Given the description of an element on the screen output the (x, y) to click on. 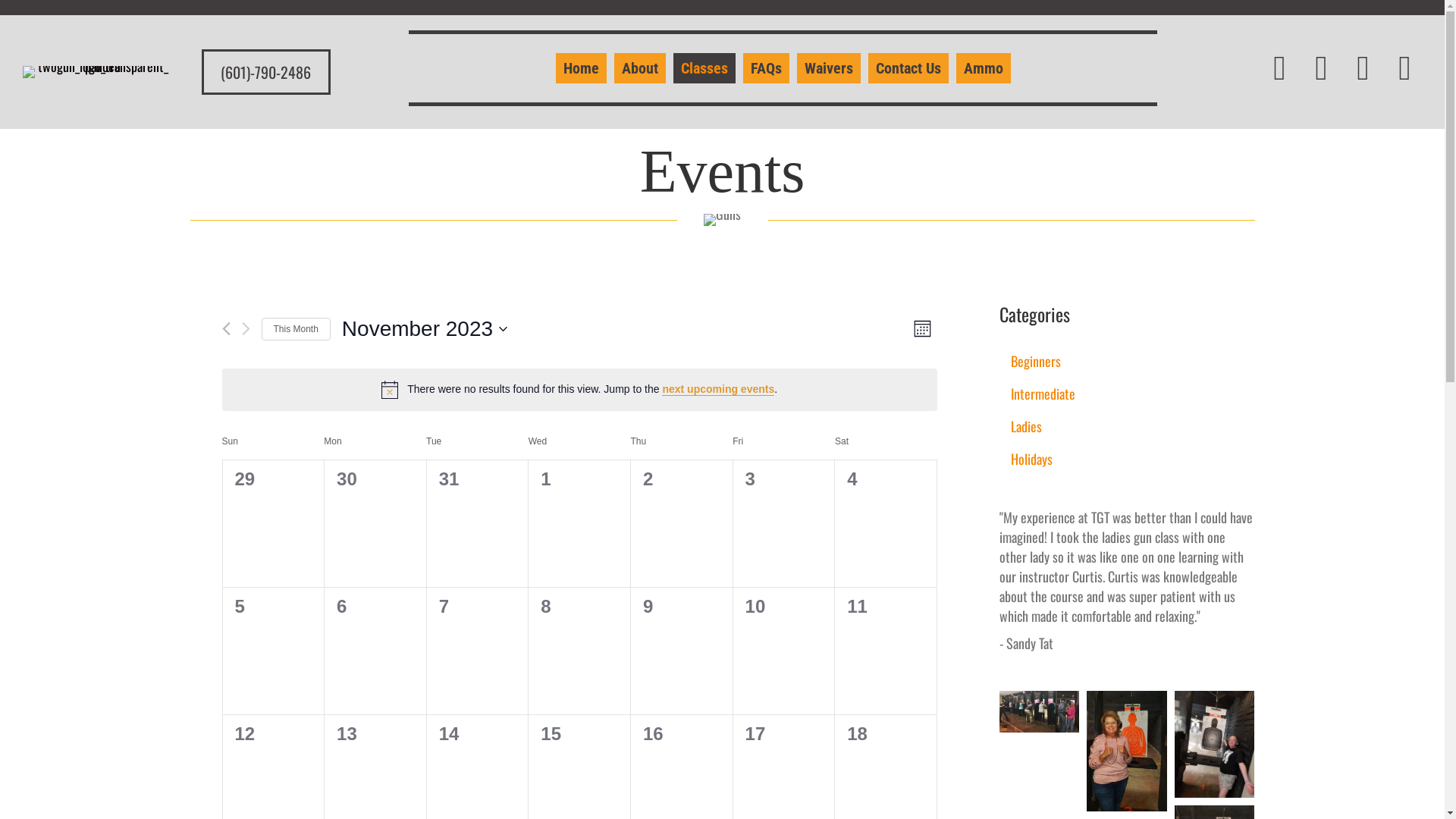
Contact Us Element type: text (908, 68)
Ammo Element type: text (983, 68)
Holidays Element type: text (1127, 458)
About Element type: text (639, 68)
This Month Element type: text (294, 329)
Intermediate Element type: text (1127, 393)
twogun_logo_transparent_padded Element type: hover (96, 71)
FAQs Element type: text (766, 68)
Beginners Element type: text (1127, 360)
beginner pistol course11 Element type: hover (1039, 711)
Ladies Element type: text (1127, 425)
Next month Element type: hover (245, 328)
next upcoming events Element type: text (718, 388)
Home Element type: text (580, 68)
(601)-790-2486 Element type: text (265, 71)
Previous month Element type: hover (225, 328)
beginner pistol course10 Element type: hover (1214, 743)
Month Element type: text (922, 328)
beginner pistol course5 Element type: hover (1126, 750)
Waivers Element type: text (828, 68)
Classes Element type: text (704, 68)
November 2023 Element type: text (424, 328)
Guns Element type: hover (721, 219)
